Given the description of an element on the screen output the (x, y) to click on. 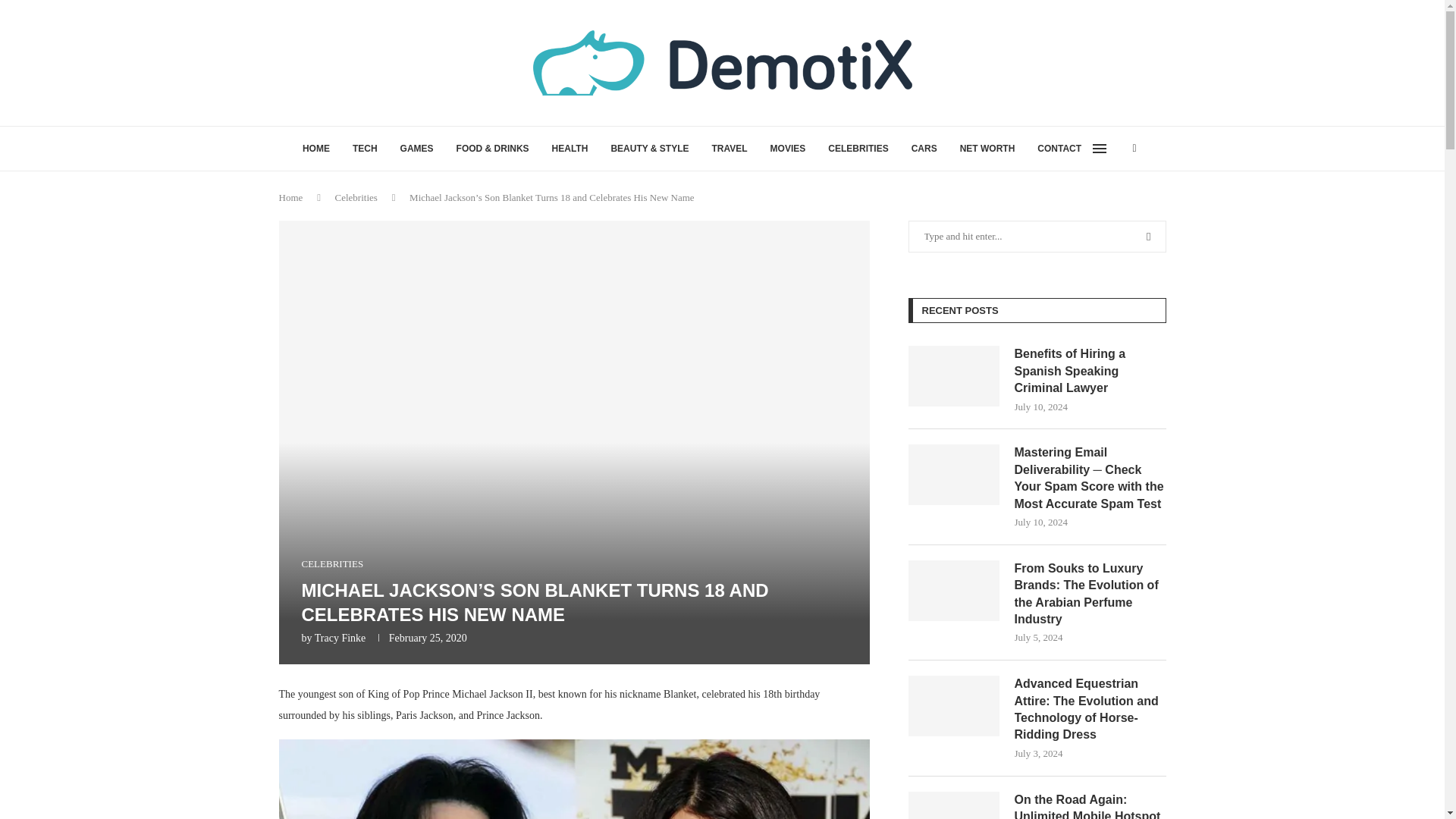
Benefits of Hiring a Spanish Speaking Criminal Lawyer (953, 375)
Tracy Finke (340, 637)
On the Road Again: Unlimited Mobile Hotspot for RV Living (1090, 805)
CELEBRITIES (332, 563)
CELEBRITIES (858, 148)
Celebrities (355, 197)
NET WORTH (986, 148)
